Given the description of an element on the screen output the (x, y) to click on. 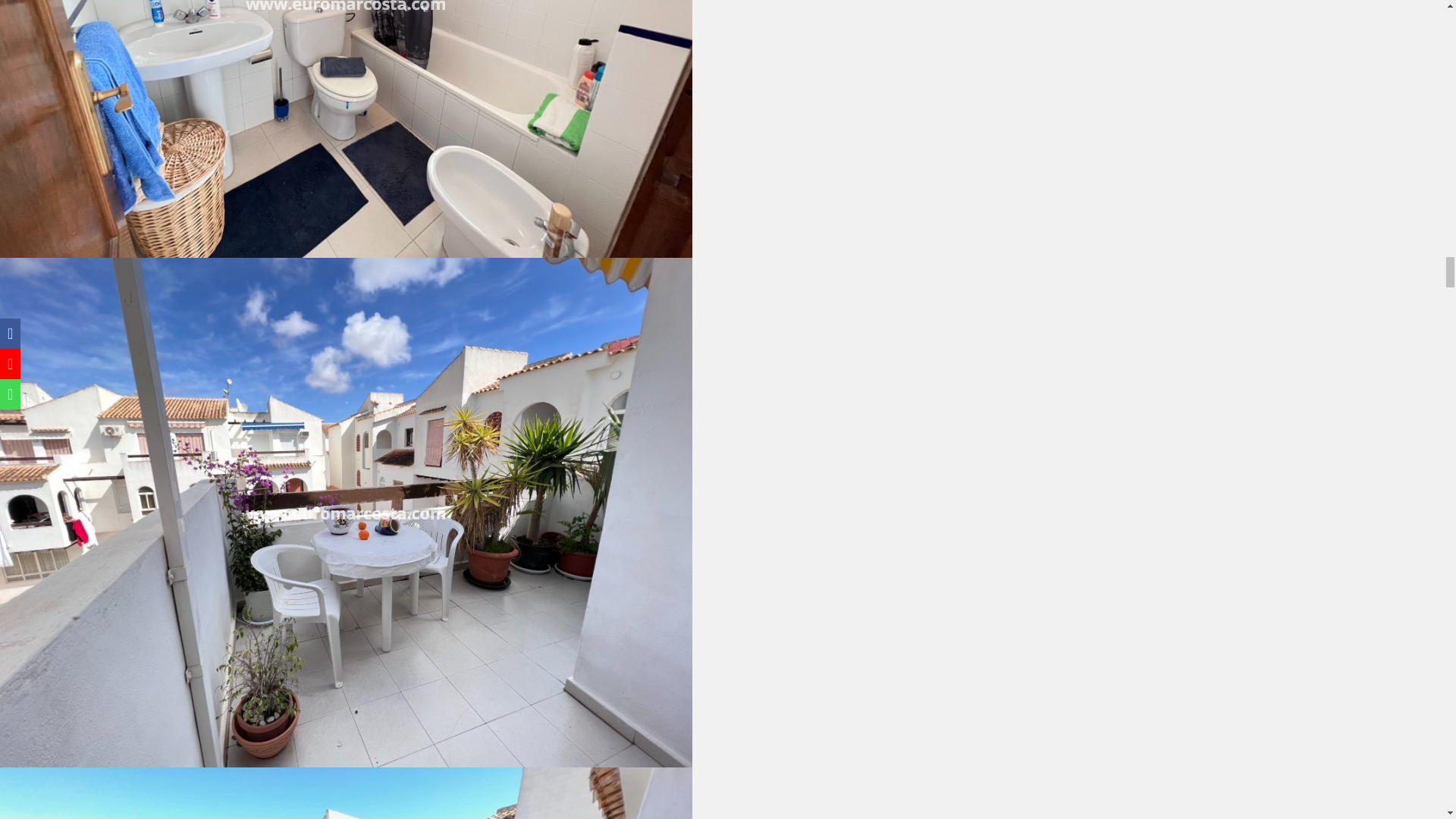
Short time rental - Penthouse - Torrevieja - TORREVIEJA (346, 793)
